Given the description of an element on the screen output the (x, y) to click on. 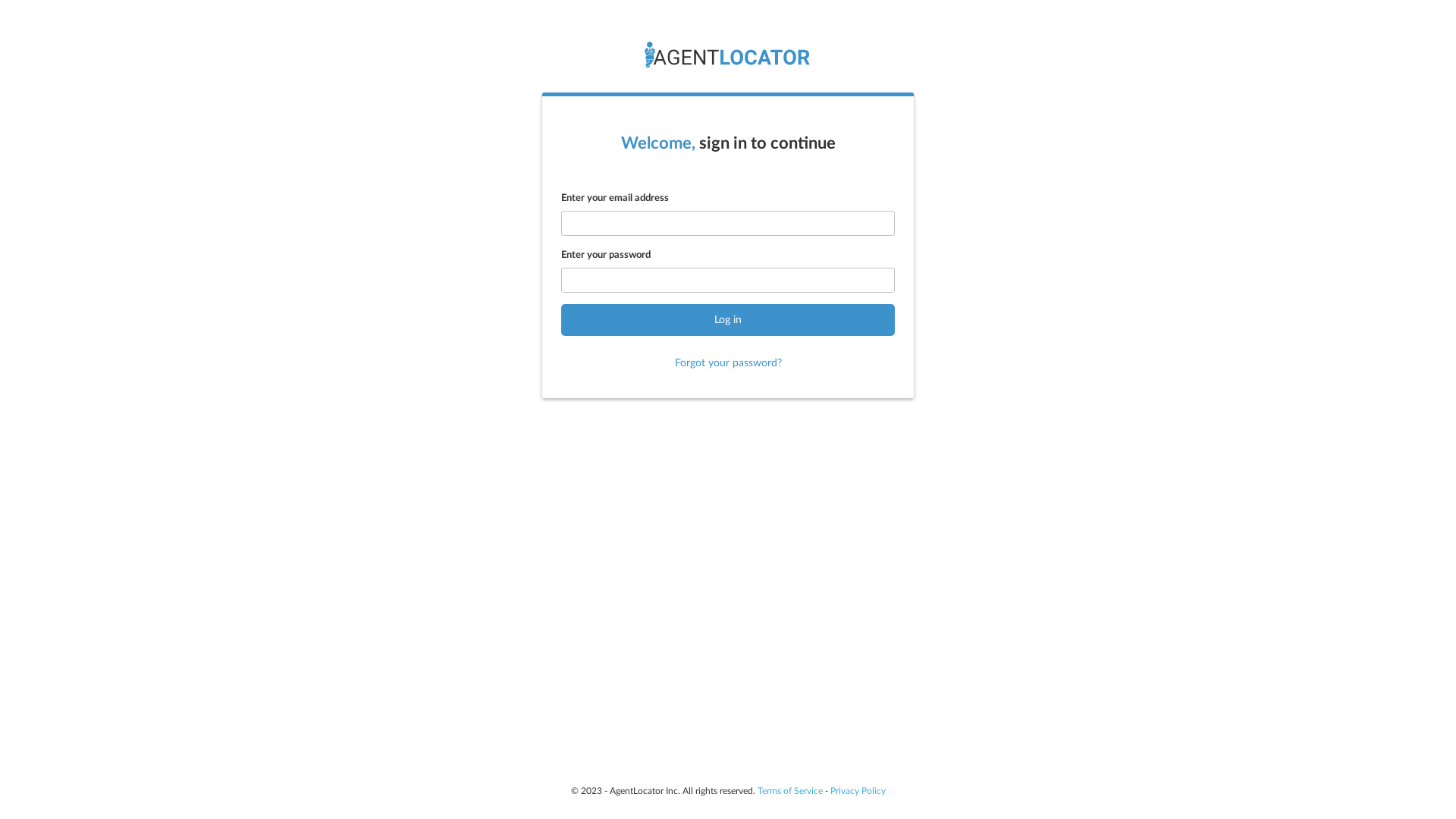
Terms of Service Element type: text (789, 790)
Forgot your password? Element type: text (727, 363)
Log in Element type: text (727, 319)
Privacy Policy Element type: text (856, 790)
